Given the description of an element on the screen output the (x, y) to click on. 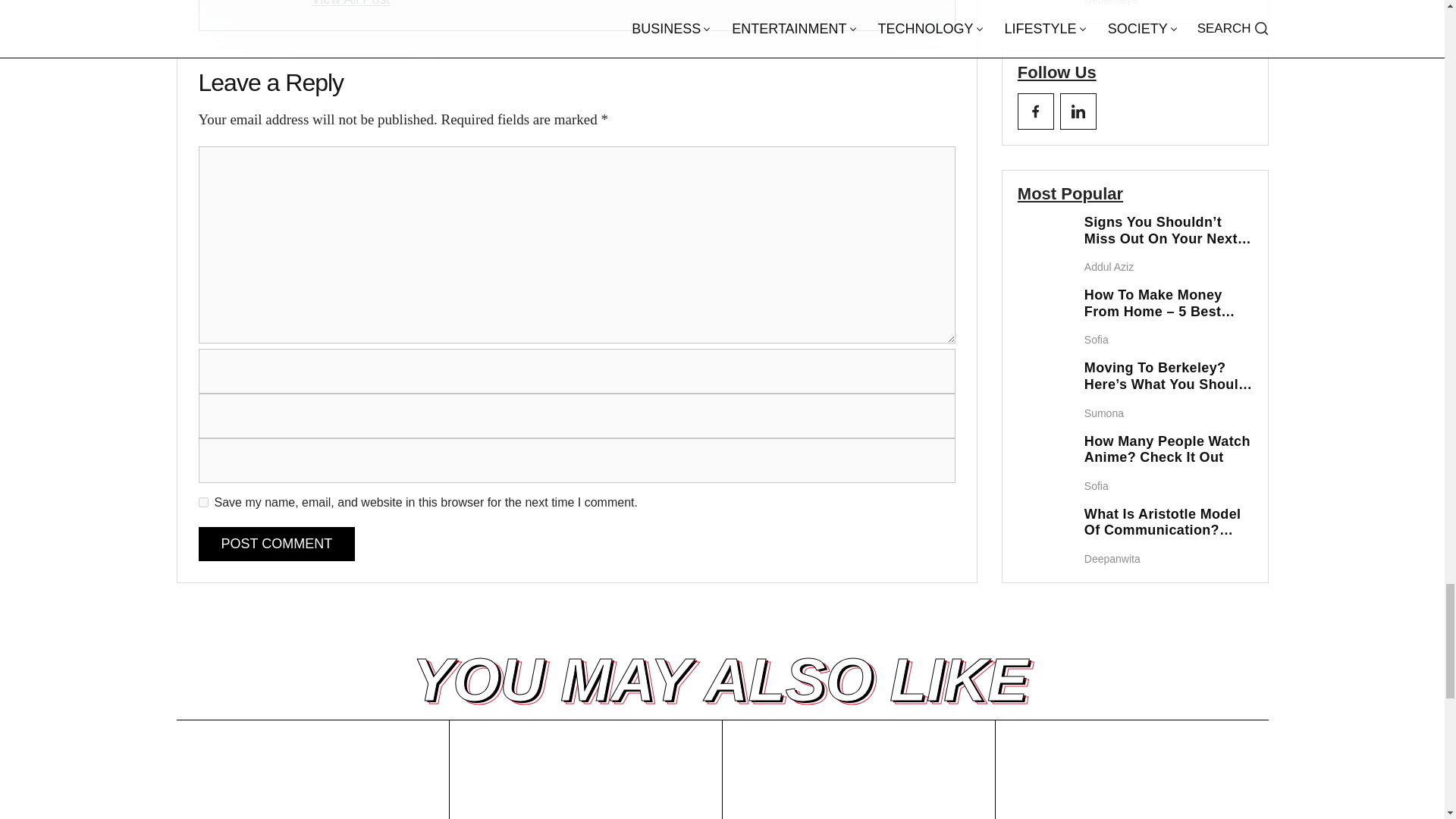
yes (203, 501)
Post Comment (276, 544)
